Given the description of an element on the screen output the (x, y) to click on. 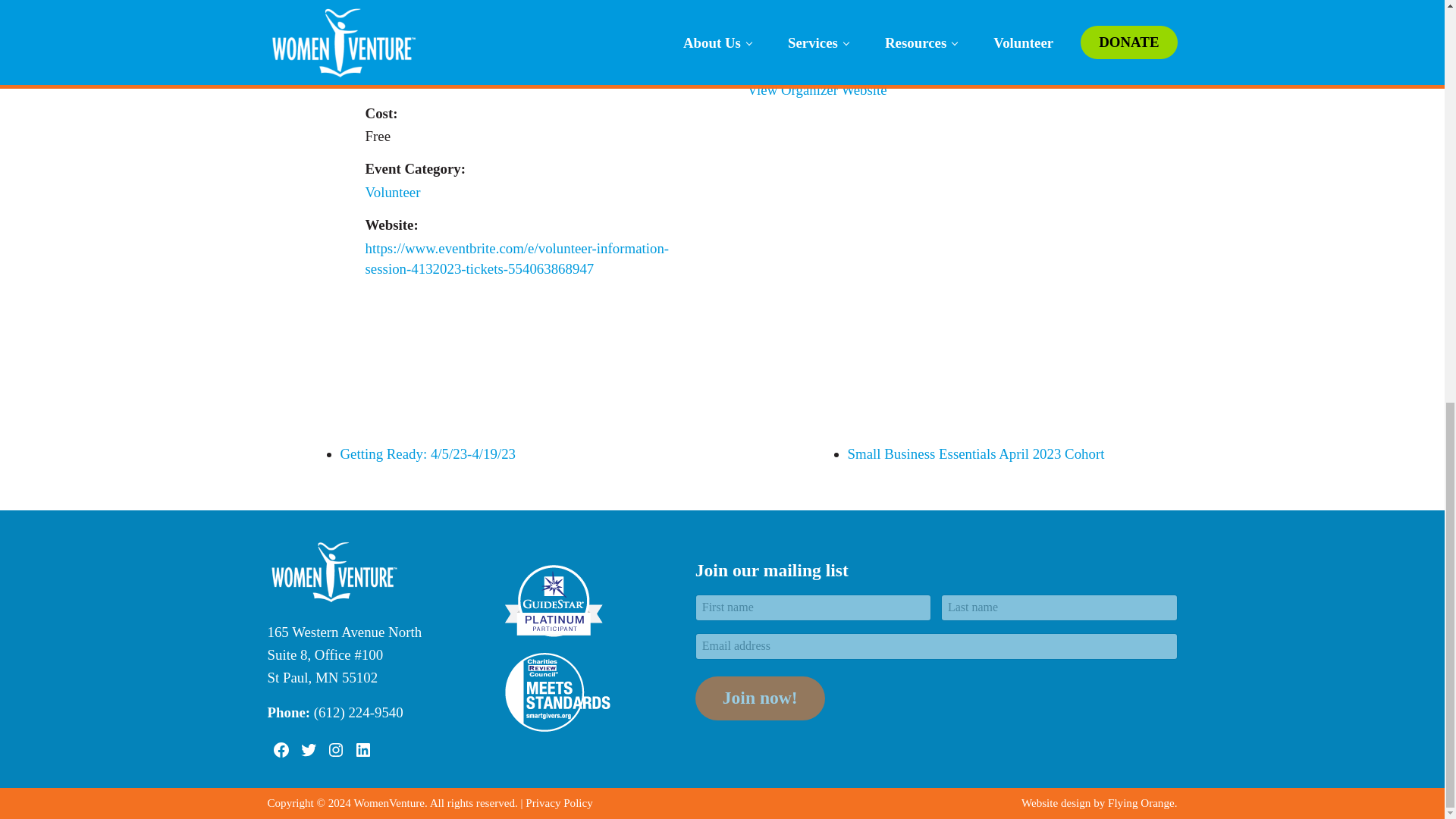
Join now! (760, 698)
2023-04-13 (407, 24)
2023-04-13 (534, 81)
WomenVenture (791, 4)
